Given the description of an element on the screen output the (x, y) to click on. 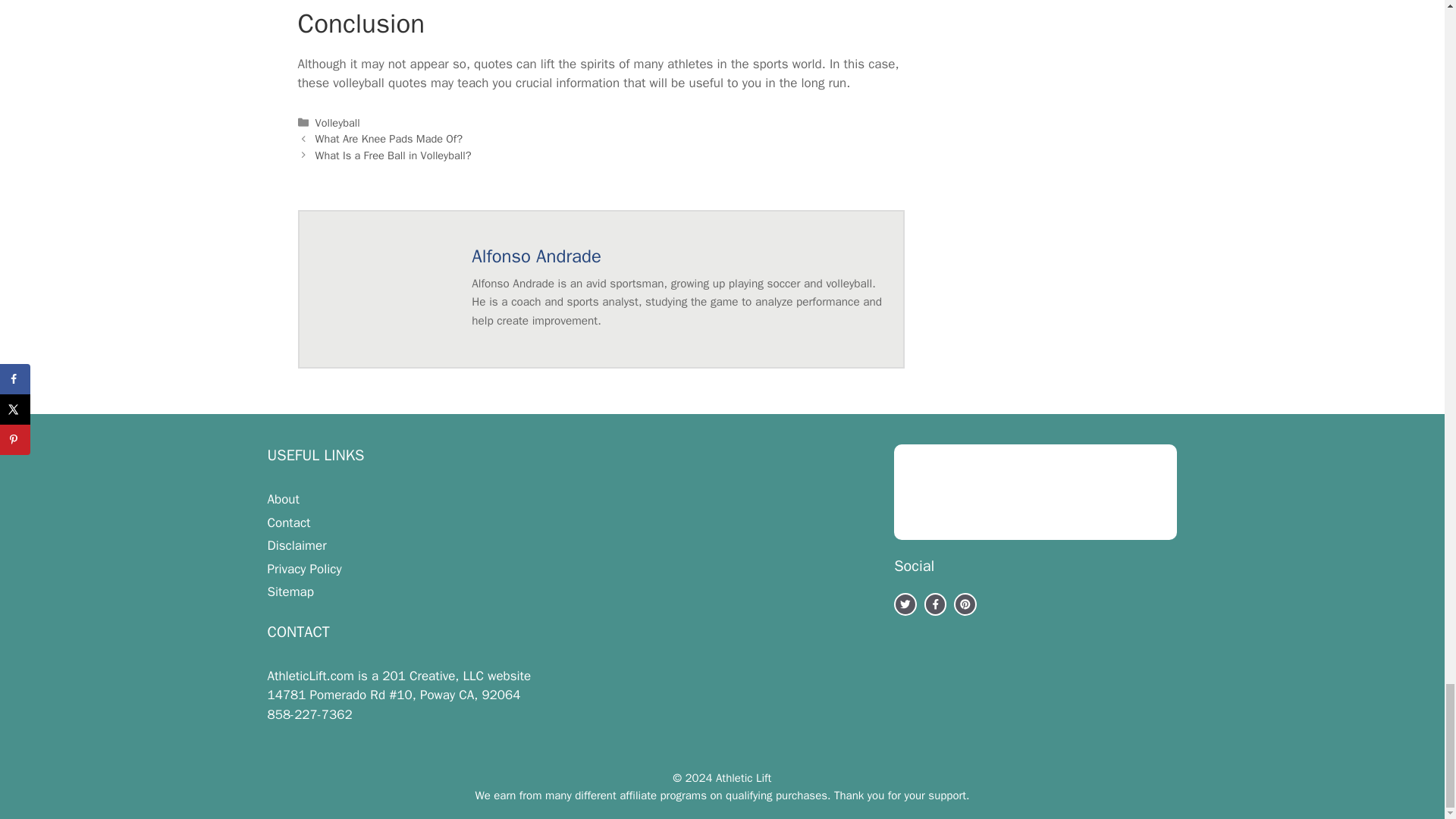
What Are Knee Pads Made Of? (389, 138)
Author Links (536, 255)
Volleyball (337, 122)
